Given the description of an element on the screen output the (x, y) to click on. 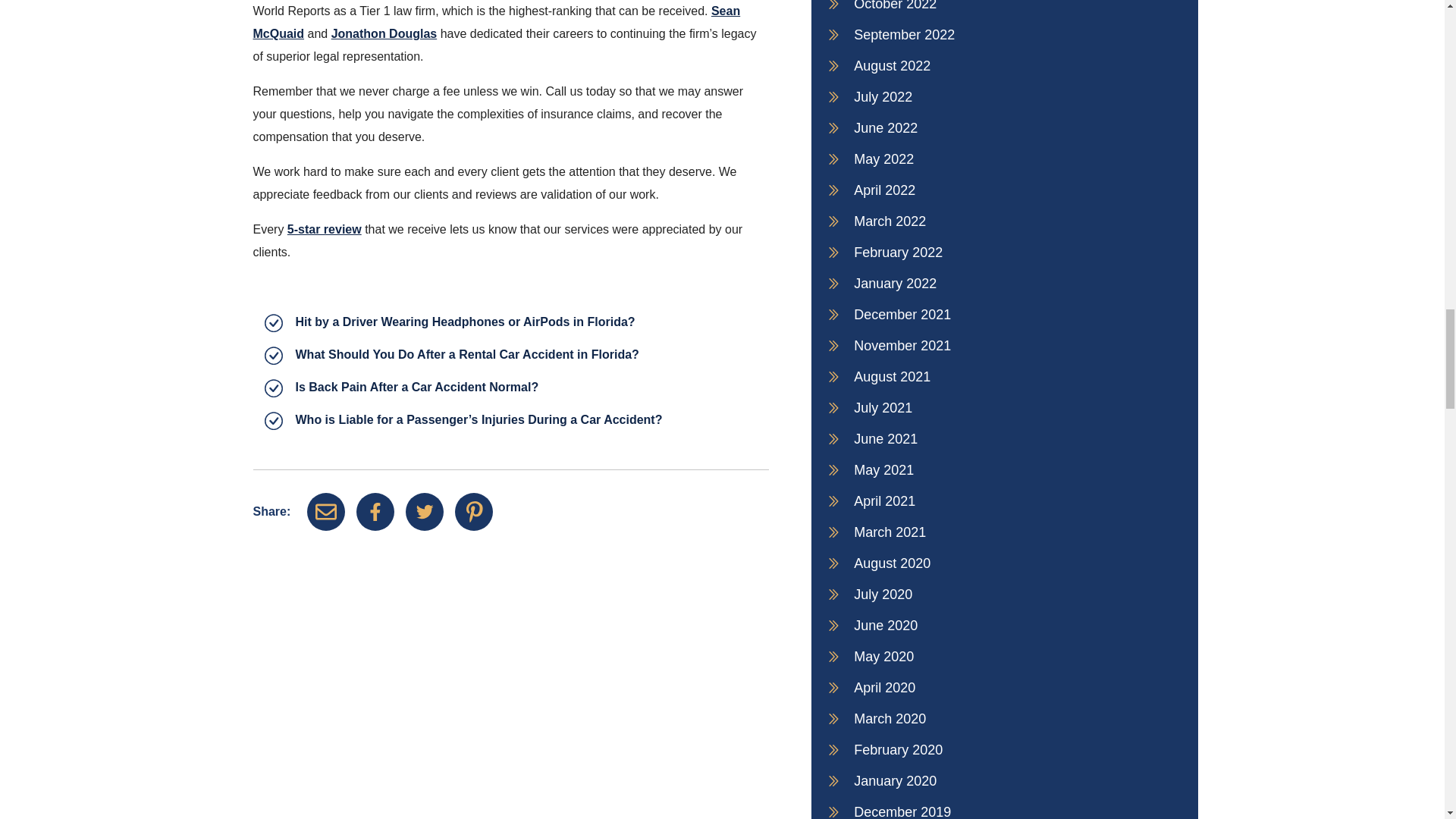
What Should You Do After a Rental Car Accident in Florida? (467, 354)
Is Back Pain After a Car Accident Normal? (416, 386)
Hit by a Driver Wearing Headphones or AirPods in Florida? (464, 321)
